Given the description of an element on the screen output the (x, y) to click on. 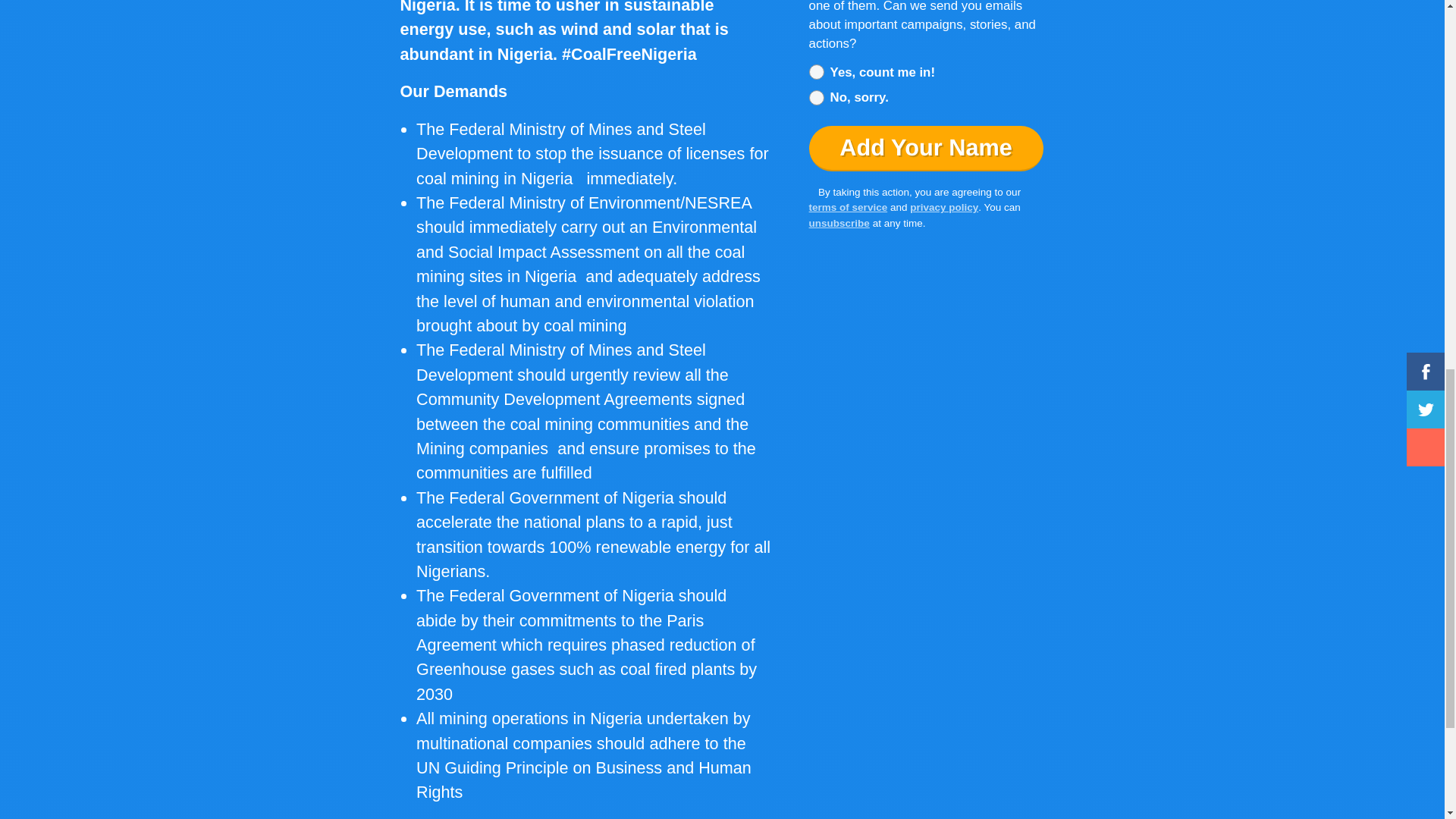
Add Your Name (926, 148)
privacy policy (944, 206)
terms of service (848, 206)
unsubscribe (839, 223)
